Given the description of an element on the screen output the (x, y) to click on. 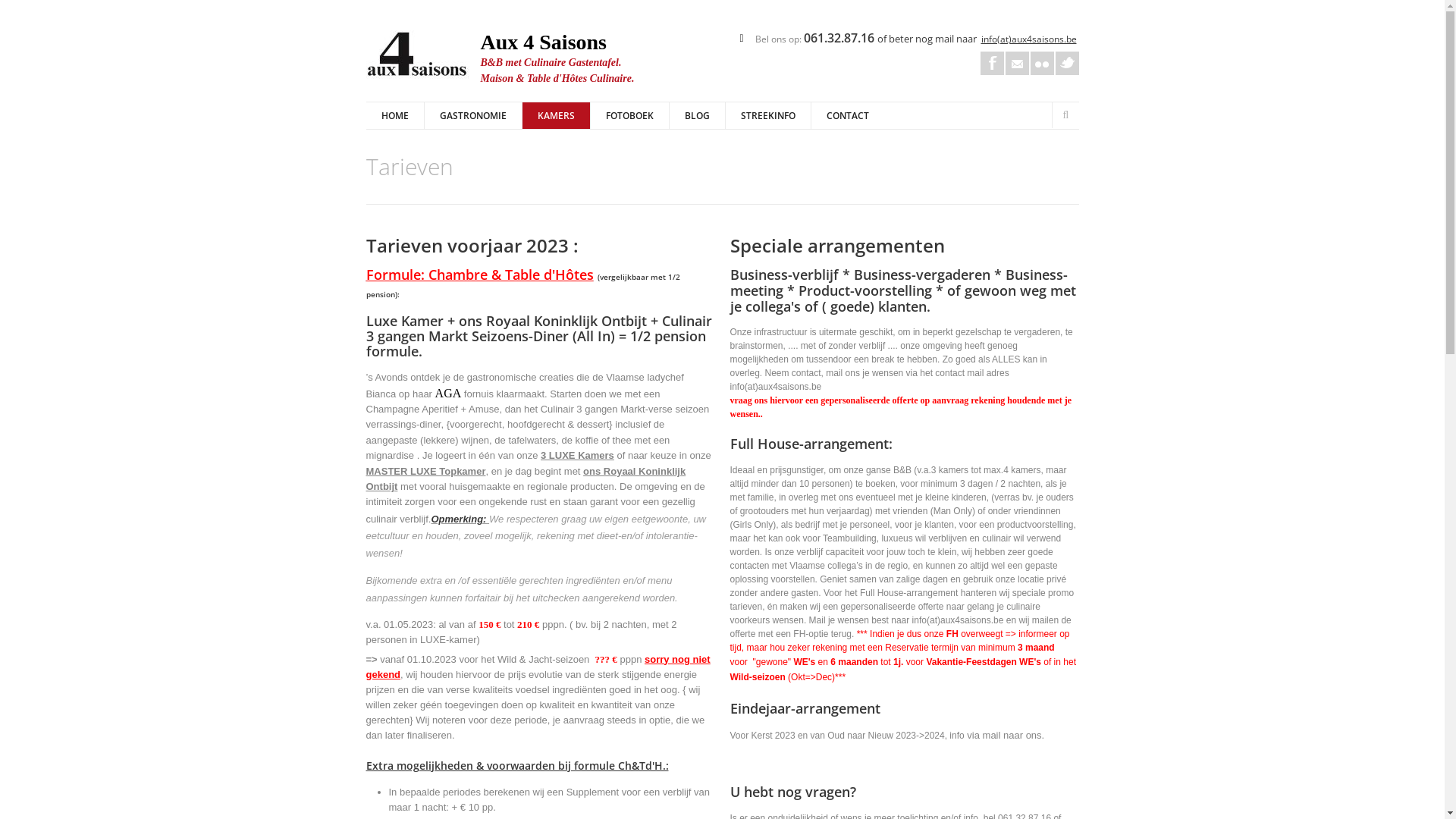
KAMERS Element type: text (555, 115)
BLOG Element type: text (696, 115)
CONTACT Element type: text (846, 115)
Facebook Element type: text (991, 63)
GASTRONOMIE Element type: text (471, 115)
Mail Element type: text (1017, 63)
Twitter Element type: text (1067, 63)
Geef de woorden op waarnaar u wilt zoeken. Element type: hover (1163, 114)
Home Element type: hover (418, 56)
HOME Element type: text (394, 115)
FOTOBOEK Element type: text (628, 115)
STREEKINFO Element type: text (767, 115)
Flickr Element type: text (1041, 63)
AGA Element type: text (448, 394)
Aux 4 Saisons Element type: text (543, 41)
